Given the description of an element on the screen output the (x, y) to click on. 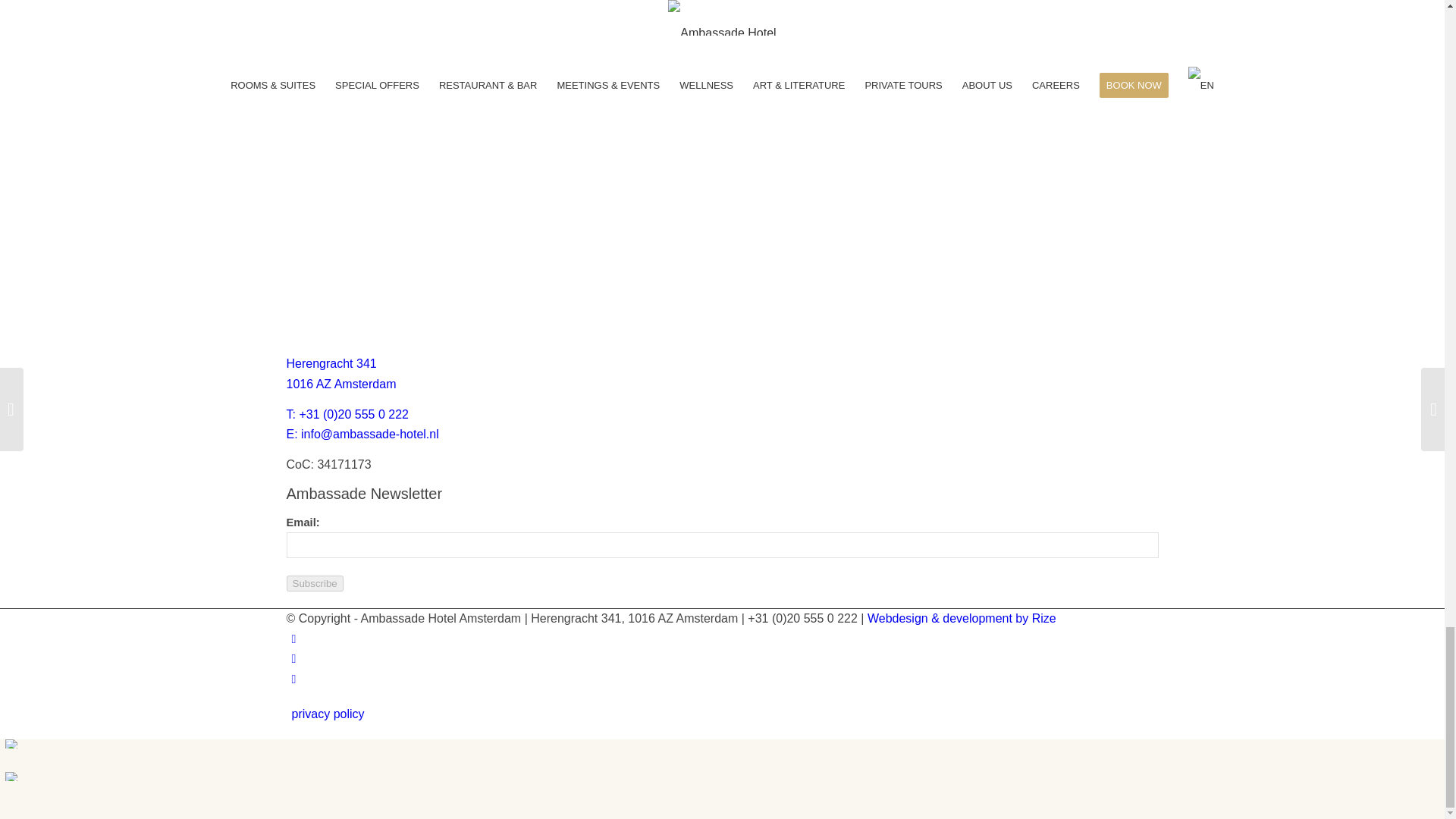
Subscribe (314, 583)
Subscribe (341, 383)
